Given the description of an element on the screen output the (x, y) to click on. 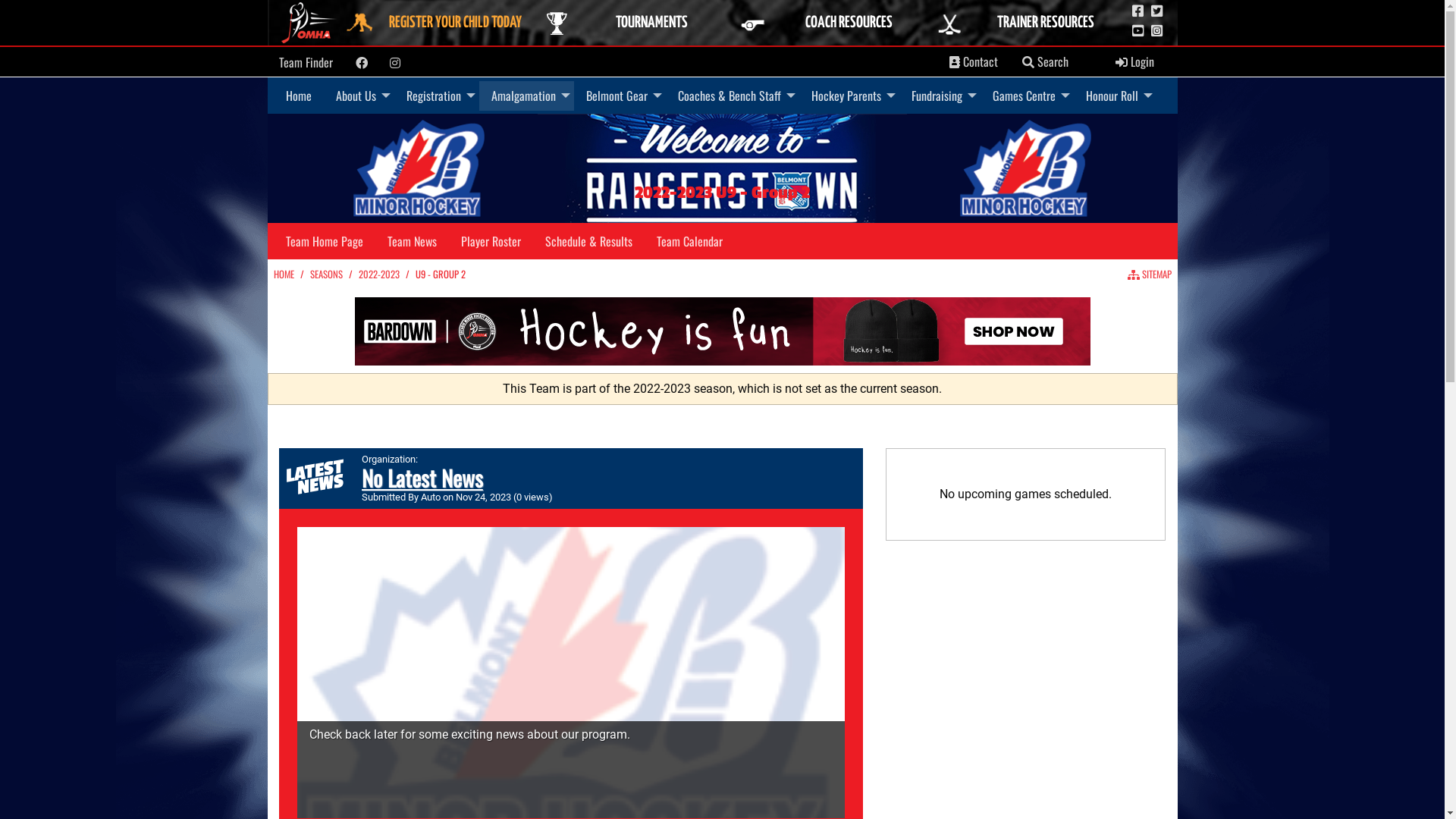
3rd party ad content Element type: hover (722, 331)
Games Centre Element type: text (1026, 95)
Facebook Element type: hover (360, 62)
 SITEMAP Element type: text (1148, 273)
REGISTER YOUR CHILD TODAY Element type: text (438, 22)
Coaches & Bench Staff Element type: text (732, 95)
Team Calendar Element type: text (689, 240)
TOURNAMENTS Element type: text (635, 22)
Team News Element type: text (411, 240)
Contacts Element type: hover (954, 62)
OMHA Facebook Page Element type: hover (1136, 11)
Honour Roll Element type: text (1114, 95)
 Search Element type: text (1045, 61)
COACH RESOURCES Element type: text (832, 22)
Schedule & Results Element type: text (587, 240)
Home Element type: text (298, 95)
TRAINER RESOURCES Element type: text (1029, 22)
Hockey Parents Element type: text (849, 95)
Belmont Gear Element type: text (619, 95)
SEASONS Element type: text (325, 273)
Registration Element type: text (436, 95)
Search Element type: hover (1028, 62)
Team Home Page Element type: text (323, 240)
About Us Element type: text (358, 95)
 Contact Element type: text (973, 61)
OMHA YouTube Channel Element type: hover (1136, 30)
No Latest News Element type: text (422, 477)
Instagram Element type: hover (394, 62)
Amalgamation Element type: text (526, 95)
Fundraising Element type: text (939, 95)
HOME Element type: text (283, 273)
2022-2023 Element type: text (377, 273)
OMHA Instagram Page Element type: hover (1156, 30)
Link to OMHA Website Element type: hover (310, 22)
 Login Element type: text (1133, 61)
OMHA Twitter Account Element type: hover (1156, 11)
Team Finder Element type: text (305, 62)
Player Roster Element type: text (490, 240)
